Given the description of an element on the screen output the (x, y) to click on. 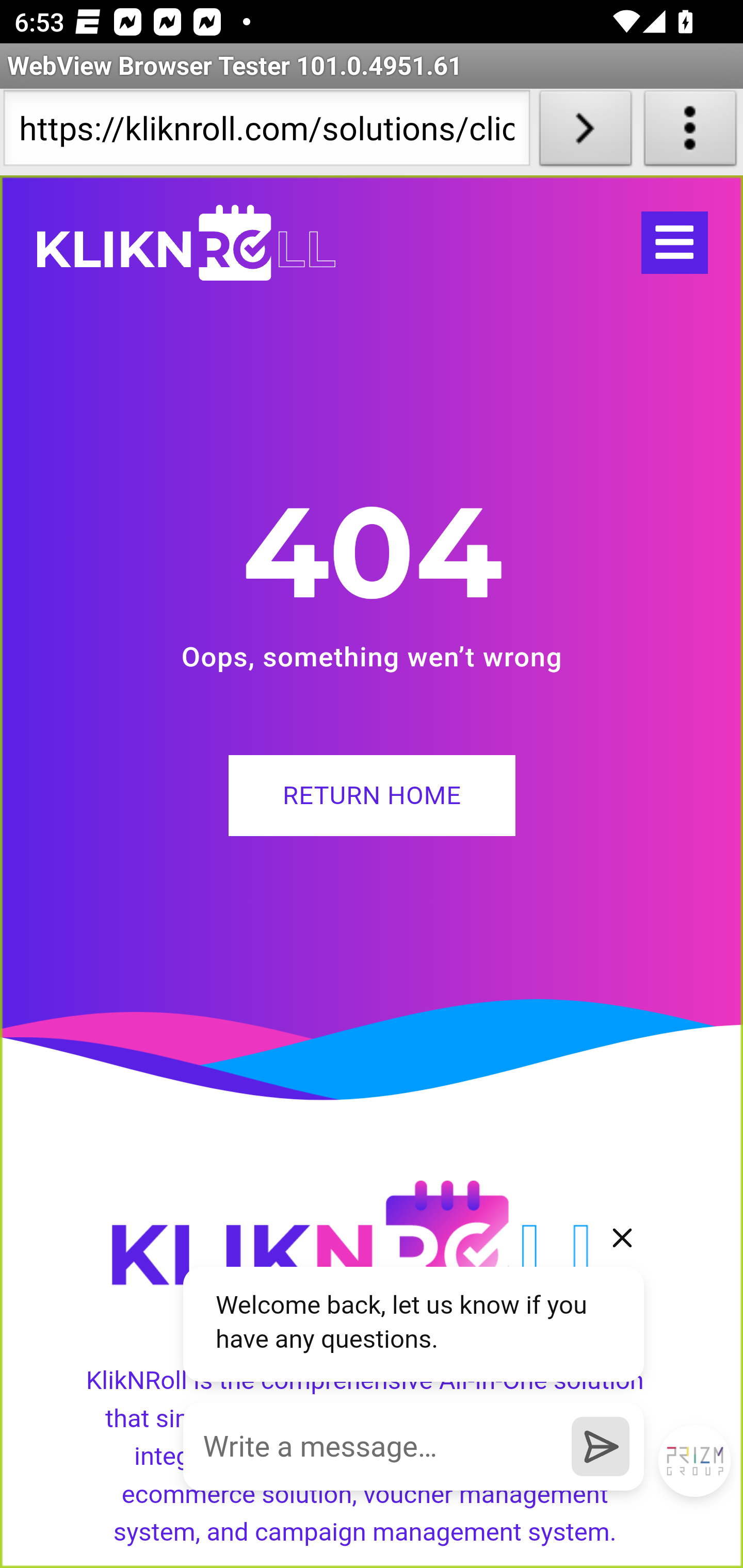
Load URL (585, 132)
About WebView (690, 132)
kliknroll (185, 242)
 (673, 242)
RETURN HOME (371, 794)
Hide greeting (621, 1237)
Send a message (600, 1446)
Open LiveChat chat widget (694, 1462)
